Given the description of an element on the screen output the (x, y) to click on. 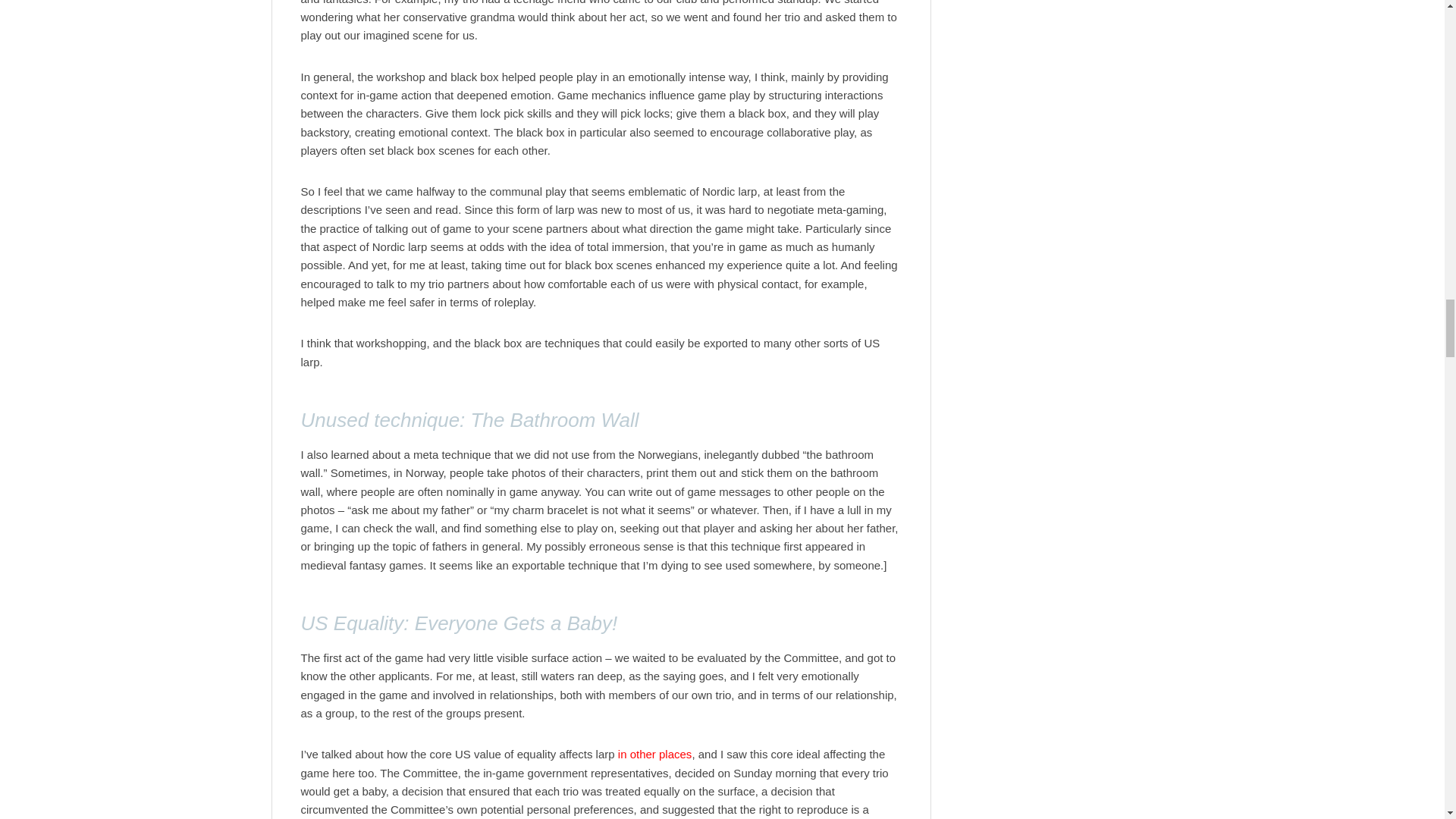
in other places (655, 753)
